Given the description of an element on the screen output the (x, y) to click on. 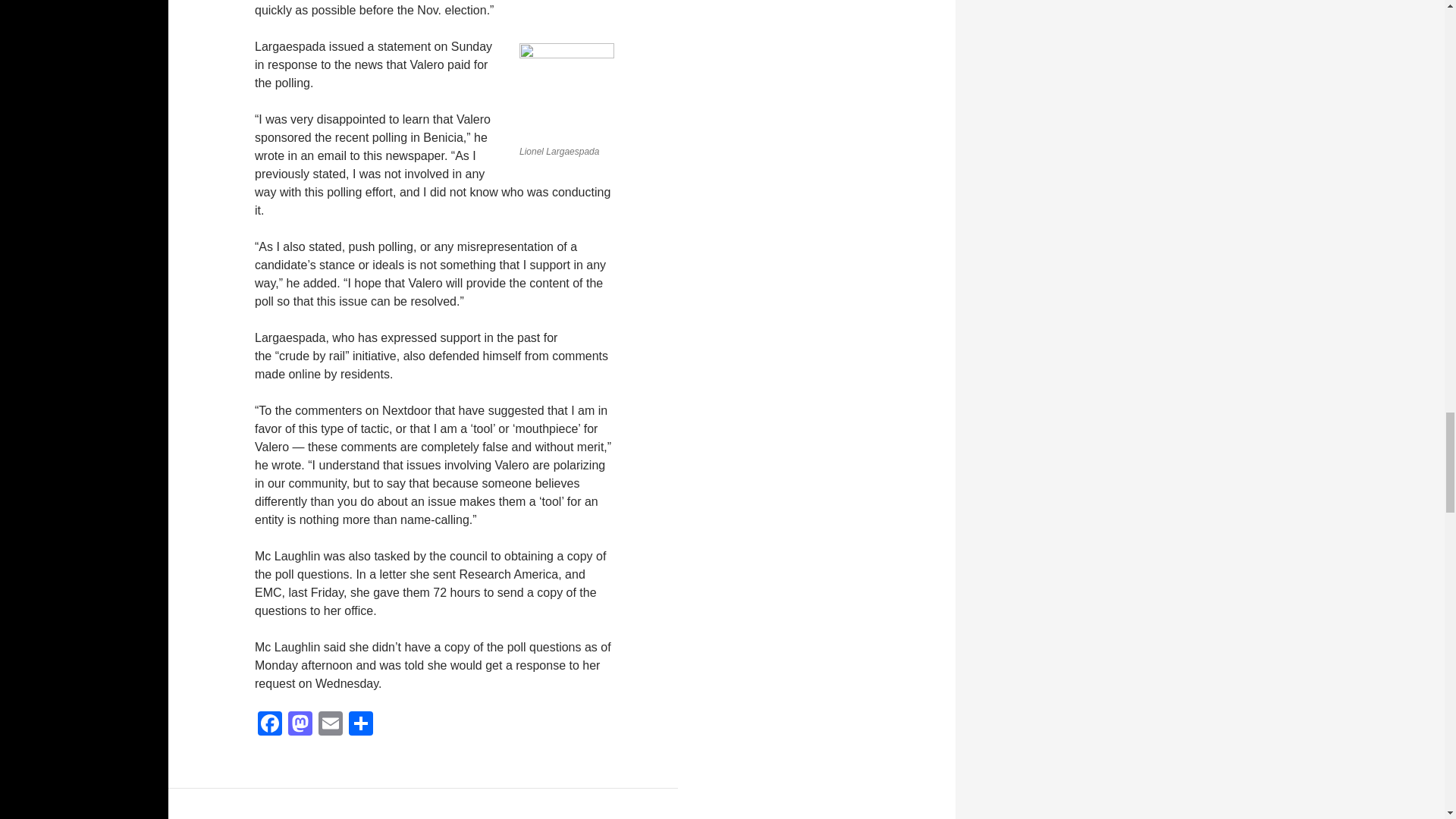
Facebook (269, 725)
Mastodon (300, 725)
Email (330, 725)
